Given the description of an element on the screen output the (x, y) to click on. 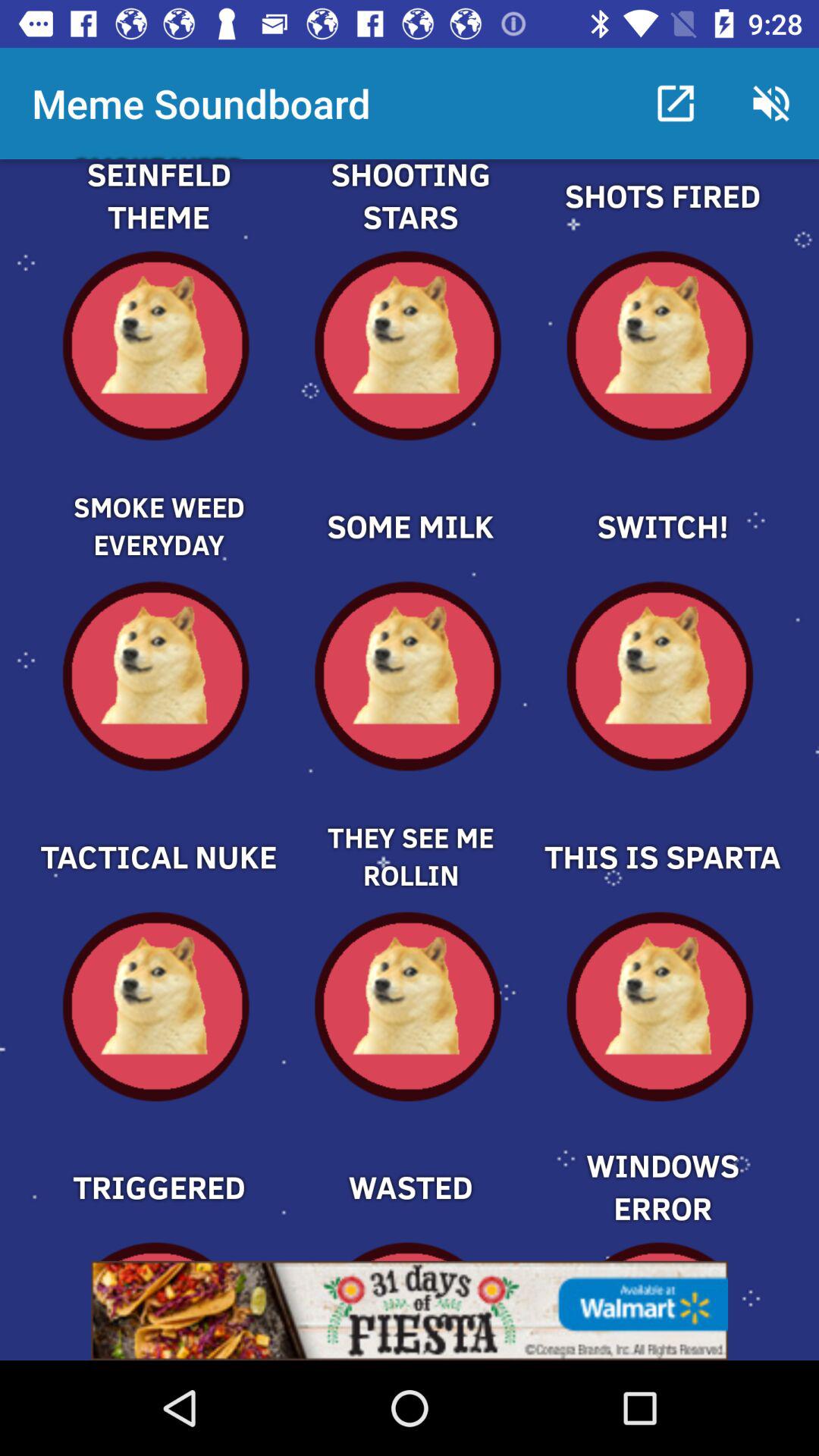
meme soundboard selection (157, 500)
